Given the description of an element on the screen output the (x, y) to click on. 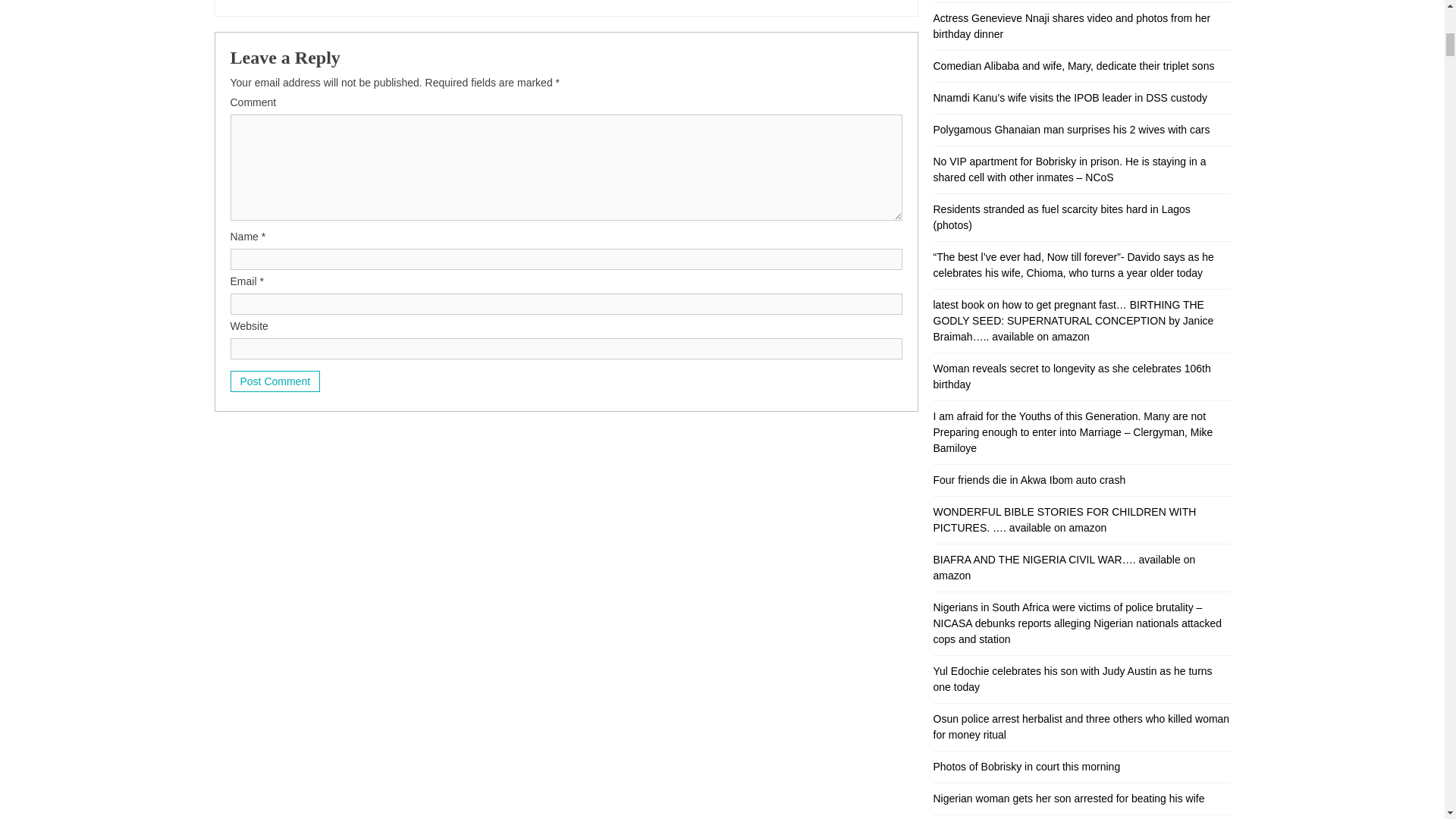
Post Comment (275, 381)
Post Comment (275, 381)
